Given the description of an element on the screen output the (x, y) to click on. 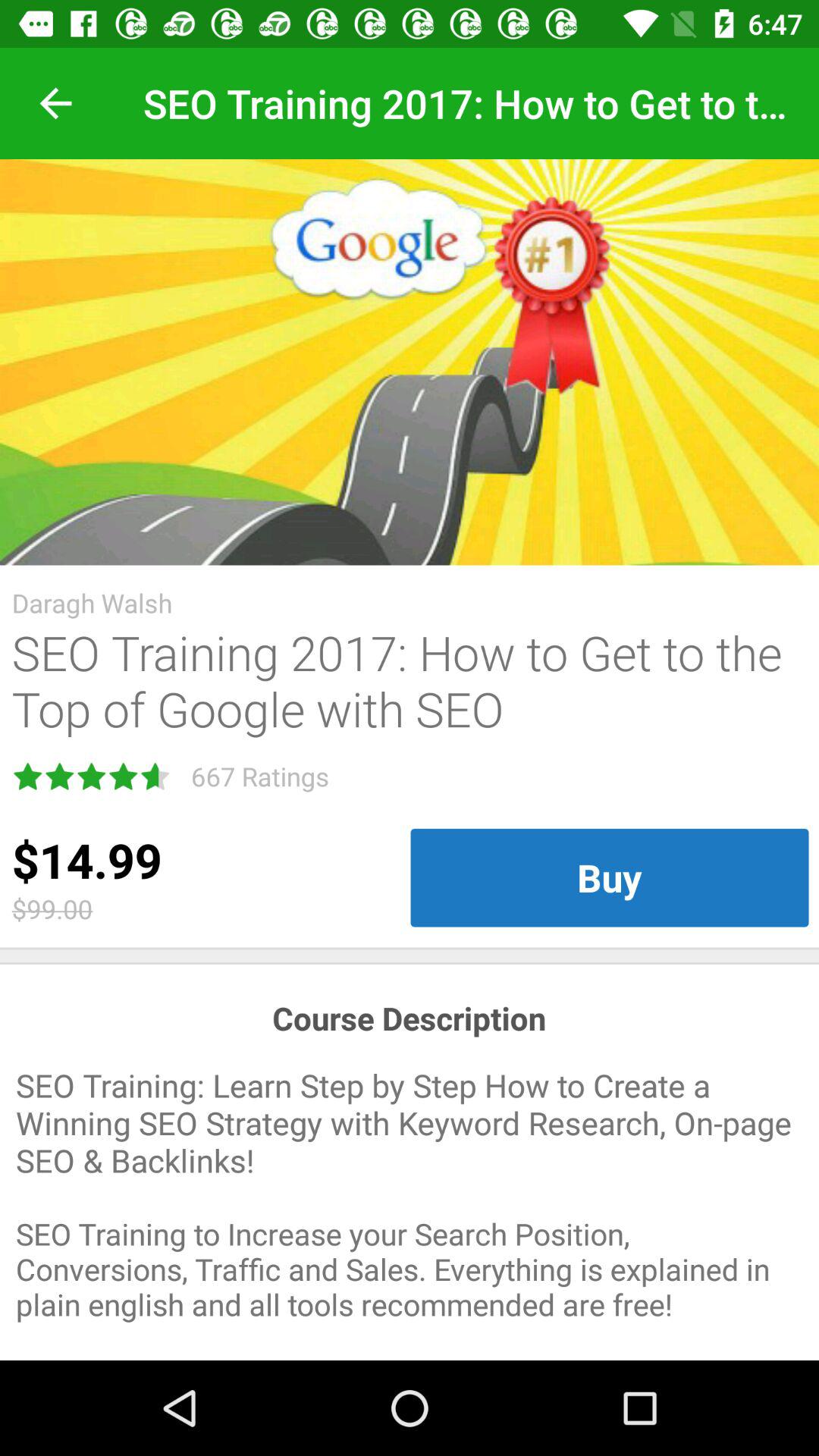
open the item below seo training 2017 icon (609, 877)
